Given the description of an element on the screen output the (x, y) to click on. 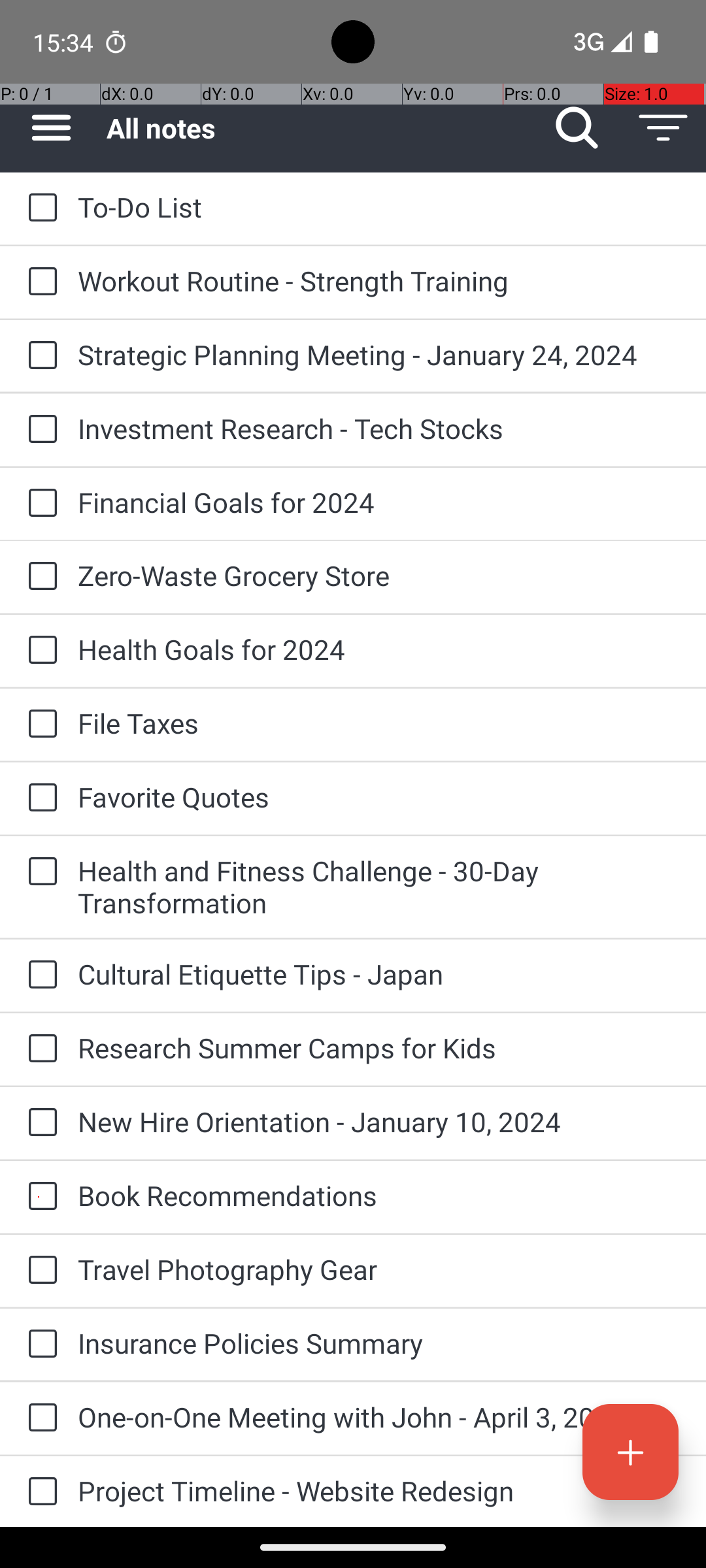
to-do: To-Do List Element type: android.widget.CheckBox (38, 208)
To-Do List Element type: android.widget.TextView (378, 206)
to-do: Workout Routine - Strength Training Element type: android.widget.CheckBox (38, 282)
Workout Routine - Strength Training Element type: android.widget.TextView (378, 280)
to-do: Strategic Planning Meeting - January 24, 2024 Element type: android.widget.CheckBox (38, 356)
Strategic Planning Meeting - January 24, 2024 Element type: android.widget.TextView (378, 354)
to-do: Investment Research - Tech Stocks Element type: android.widget.CheckBox (38, 429)
Investment Research - Tech Stocks Element type: android.widget.TextView (378, 427)
to-do: Financial Goals for 2024 Element type: android.widget.CheckBox (38, 503)
Financial Goals for 2024 Element type: android.widget.TextView (378, 501)
to-do: Zero-Waste Grocery Store Element type: android.widget.CheckBox (38, 576)
Zero-Waste Grocery Store Element type: android.widget.TextView (378, 574)
to-do: Health Goals for 2024 Element type: android.widget.CheckBox (38, 650)
Health Goals for 2024 Element type: android.widget.TextView (378, 648)
to-do: File Taxes Element type: android.widget.CheckBox (38, 724)
File Taxes Element type: android.widget.TextView (378, 722)
to-do: Favorite Quotes Element type: android.widget.CheckBox (38, 798)
Favorite Quotes Element type: android.widget.TextView (378, 796)
to-do: Health and Fitness Challenge - 30-Day Transformation Element type: android.widget.CheckBox (38, 872)
Health and Fitness Challenge - 30-Day Transformation Element type: android.widget.TextView (378, 886)
to-do: Cultural Etiquette Tips - Japan Element type: android.widget.CheckBox (38, 975)
Cultural Etiquette Tips - Japan Element type: android.widget.TextView (378, 973)
to-do: Research Summer Camps for Kids Element type: android.widget.CheckBox (38, 1049)
Research Summer Camps for Kids Element type: android.widget.TextView (378, 1047)
to-do: Book Recommendations Element type: android.widget.CheckBox (38, 1196)
Book Recommendations Element type: android.widget.TextView (378, 1194)
to-do: Insurance Policies Summary Element type: android.widget.CheckBox (38, 1344)
